Given the description of an element on the screen output the (x, y) to click on. 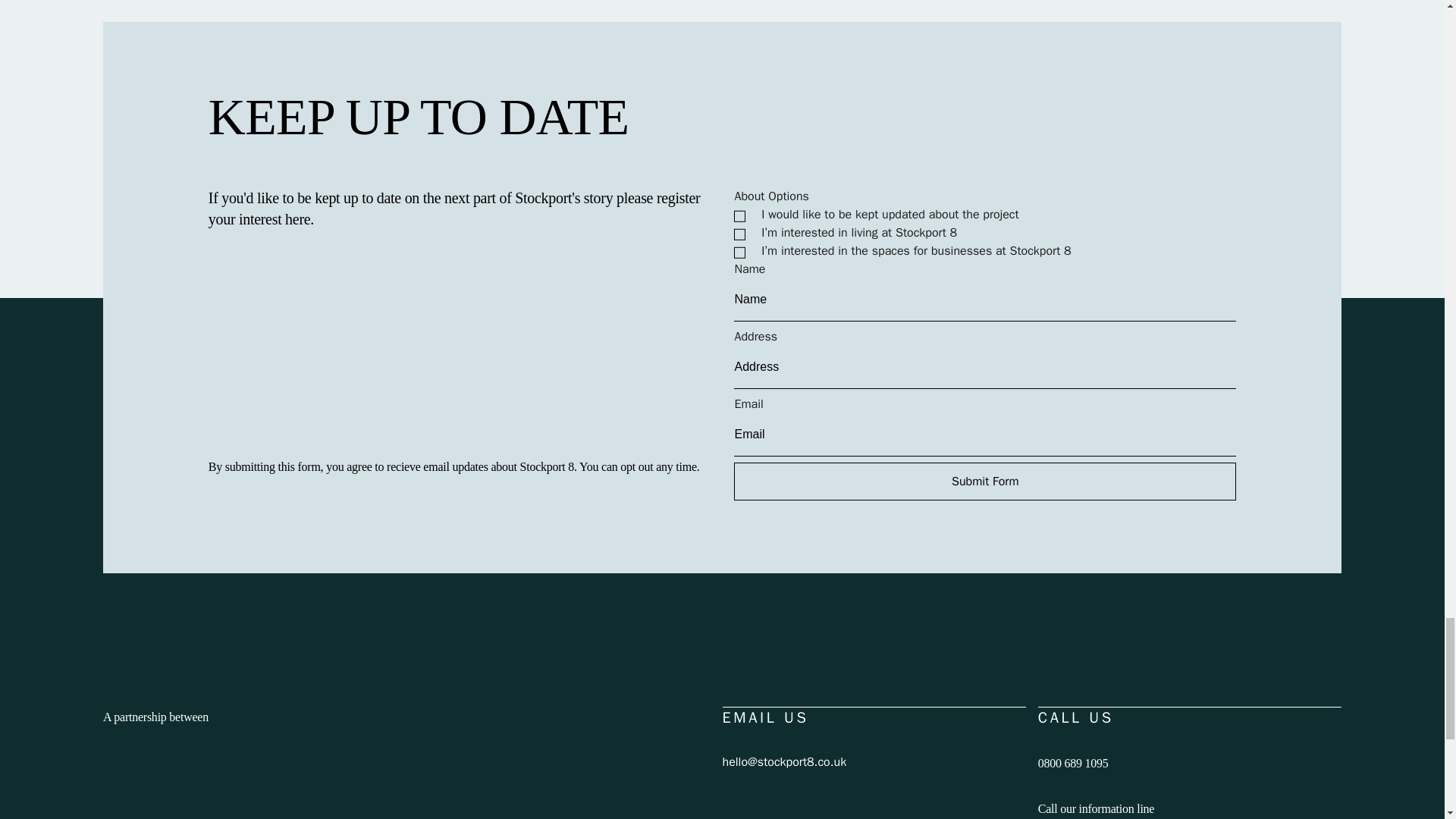
I would like to be kept updated about the project (739, 215)
Submit Form (984, 481)
